Given the description of an element on the screen output the (x, y) to click on. 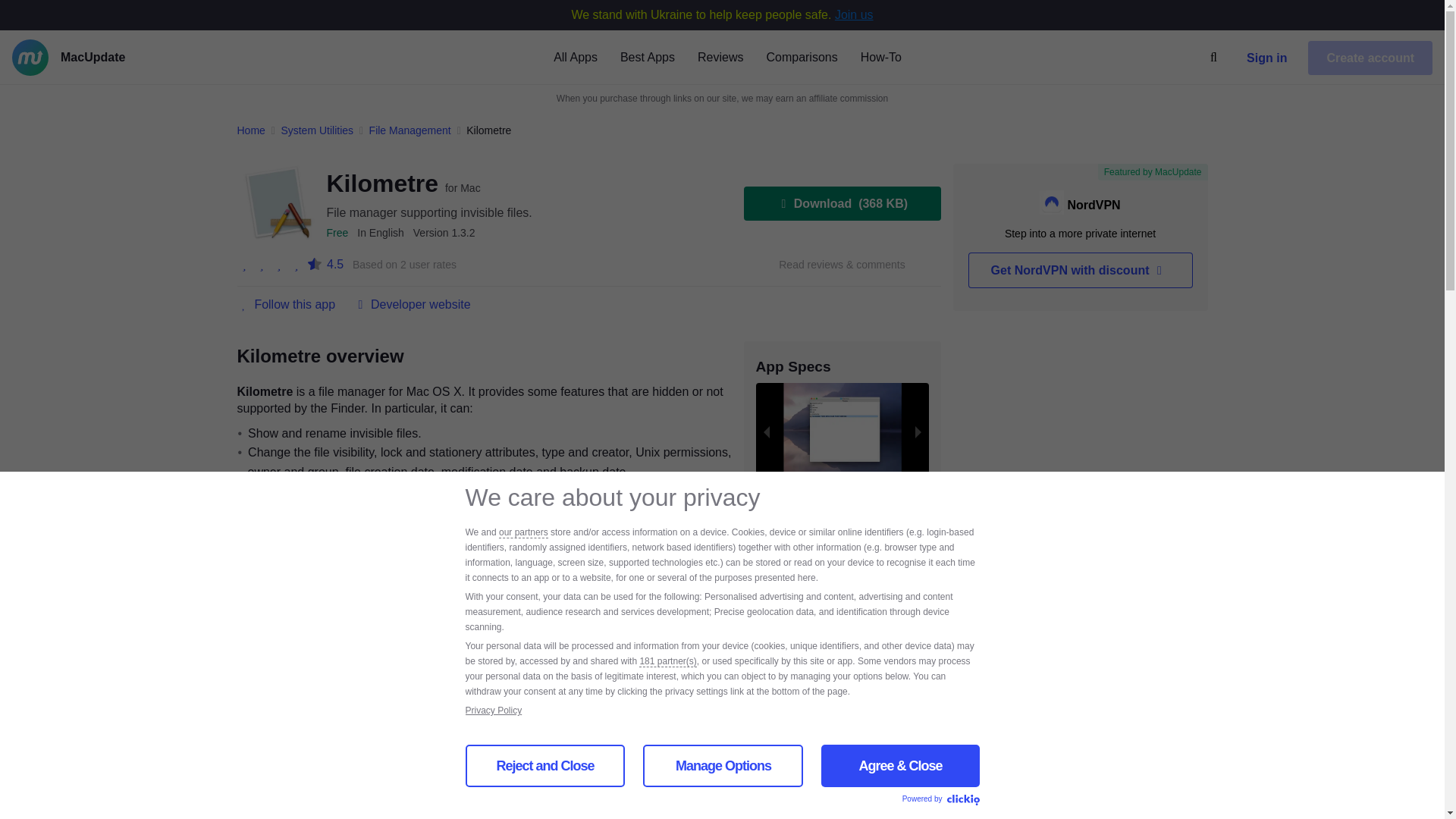
1.3.2 (444, 232)
All Apps (574, 56)
MacUpdate (116, 57)
Join us (853, 14)
